Given the description of an element on the screen output the (x, y) to click on. 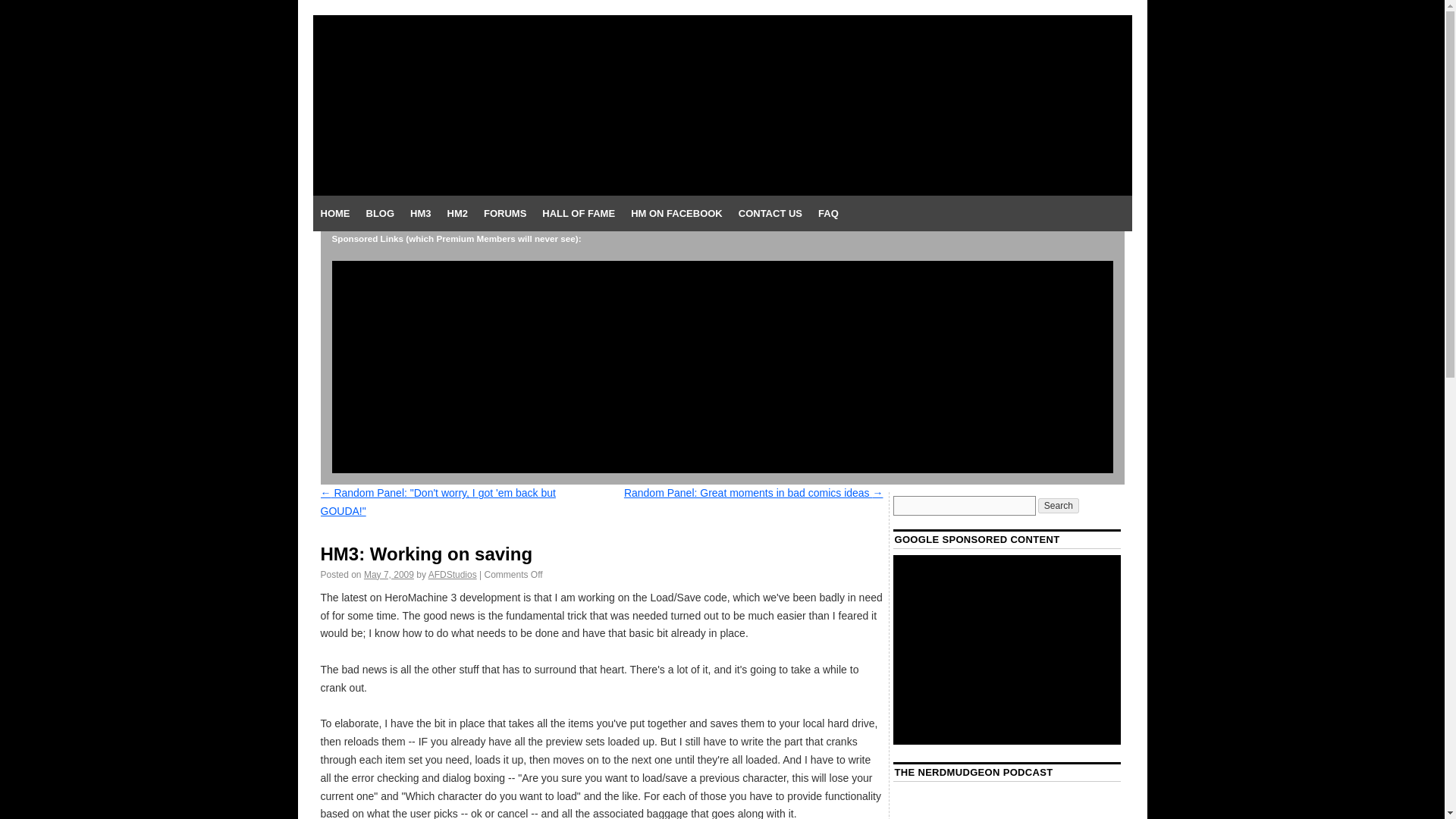
HOME (334, 213)
Search (1058, 505)
HM3 (420, 213)
FAQ (827, 213)
AFDStudios (452, 574)
BLOG (379, 213)
May 7, 2009 (388, 574)
HM ON FACEBOOK (676, 213)
Search (1058, 505)
Advertisement (1007, 649)
HM2 (457, 213)
HALL OF FAME (578, 213)
CONTACT US (769, 213)
FORUMS (505, 213)
